Given the description of an element on the screen output the (x, y) to click on. 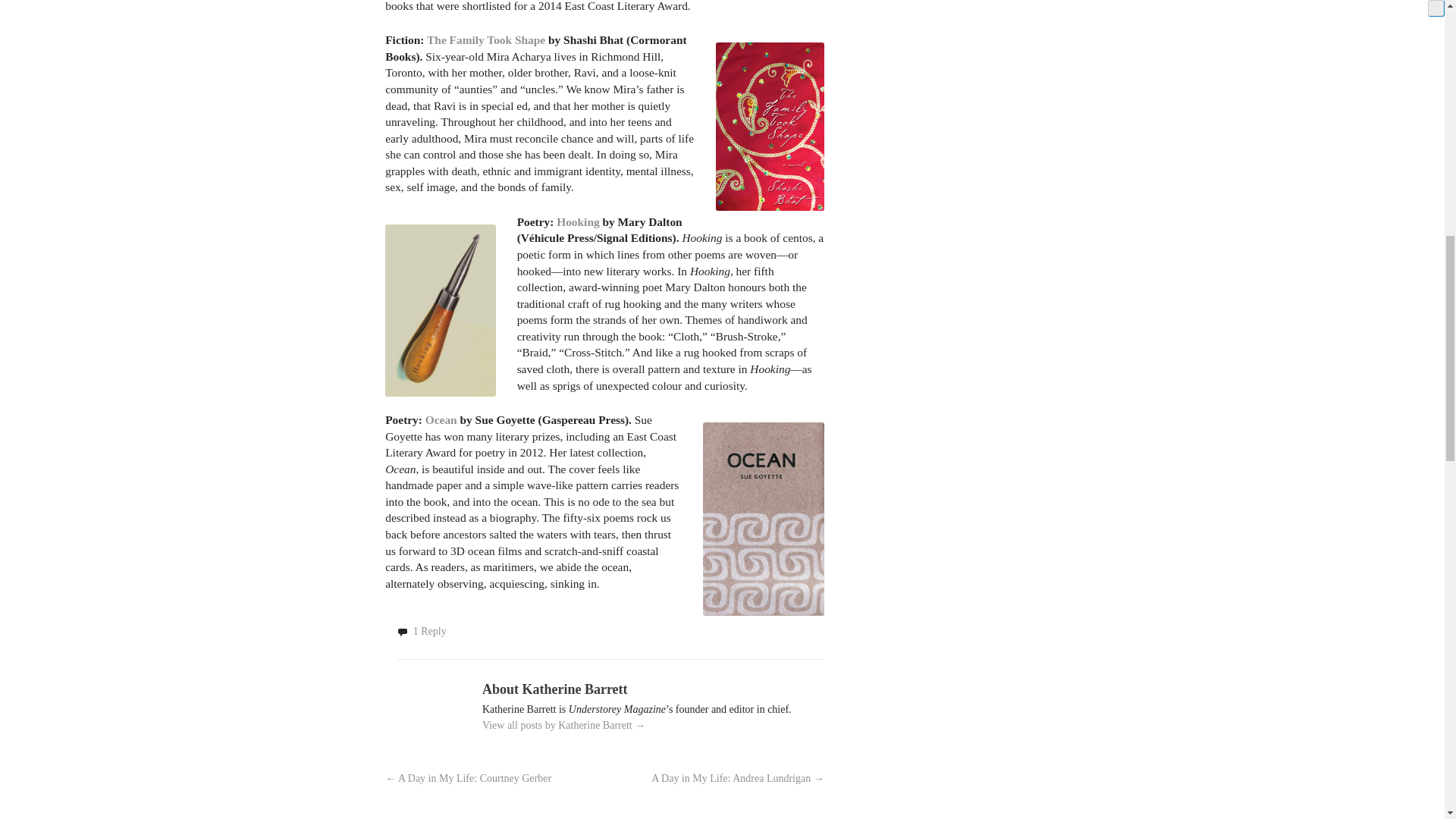
1 Reply (429, 631)
Hooking (577, 221)
The Family Took Shape (485, 39)
Ocean (441, 419)
